Given the description of an element on the screen output the (x, y) to click on. 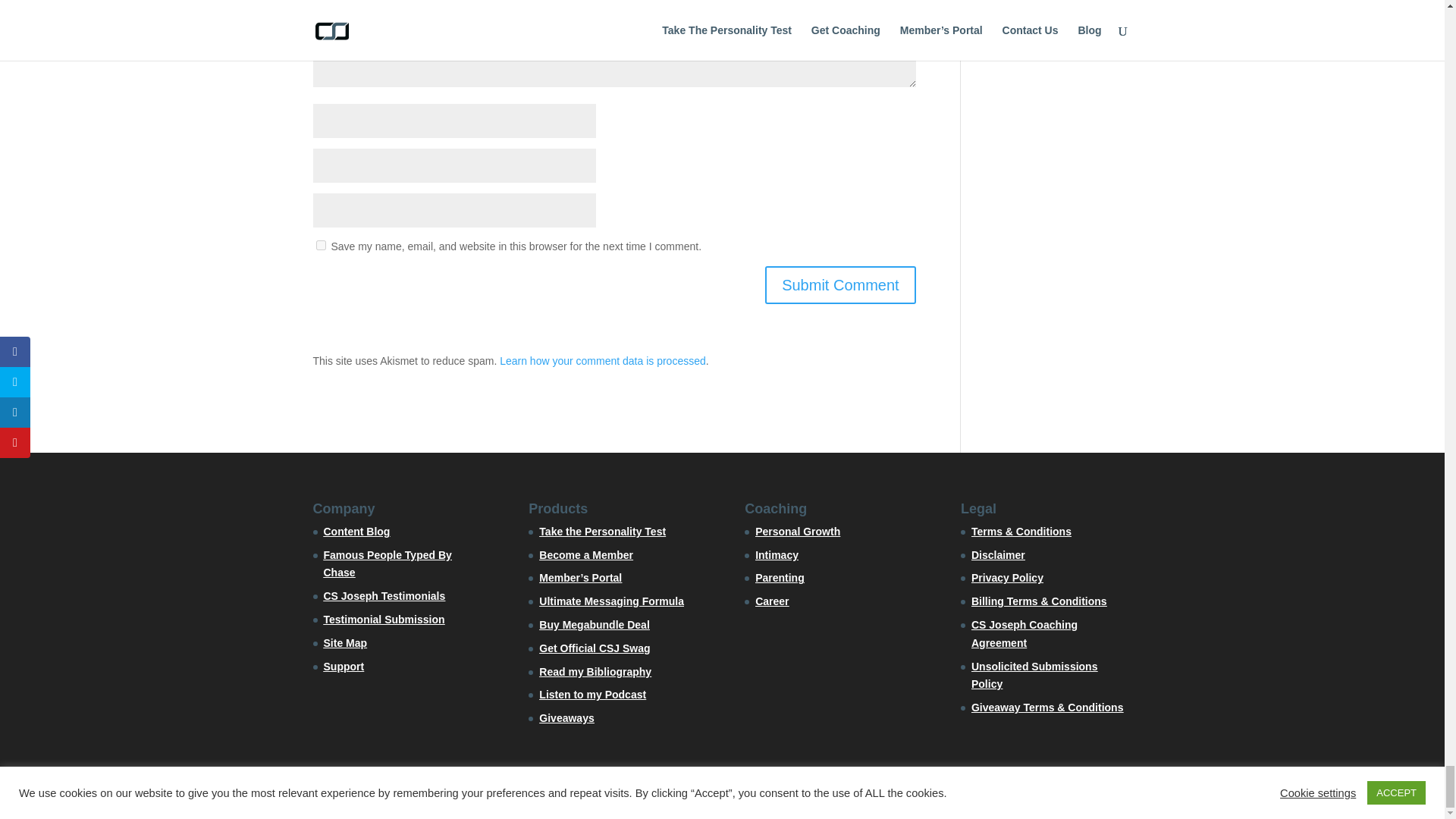
Submit Comment (840, 284)
Learn how your comment data is processed (602, 360)
Submit Comment (840, 284)
yes (319, 245)
